Given the description of an element on the screen output the (x, y) to click on. 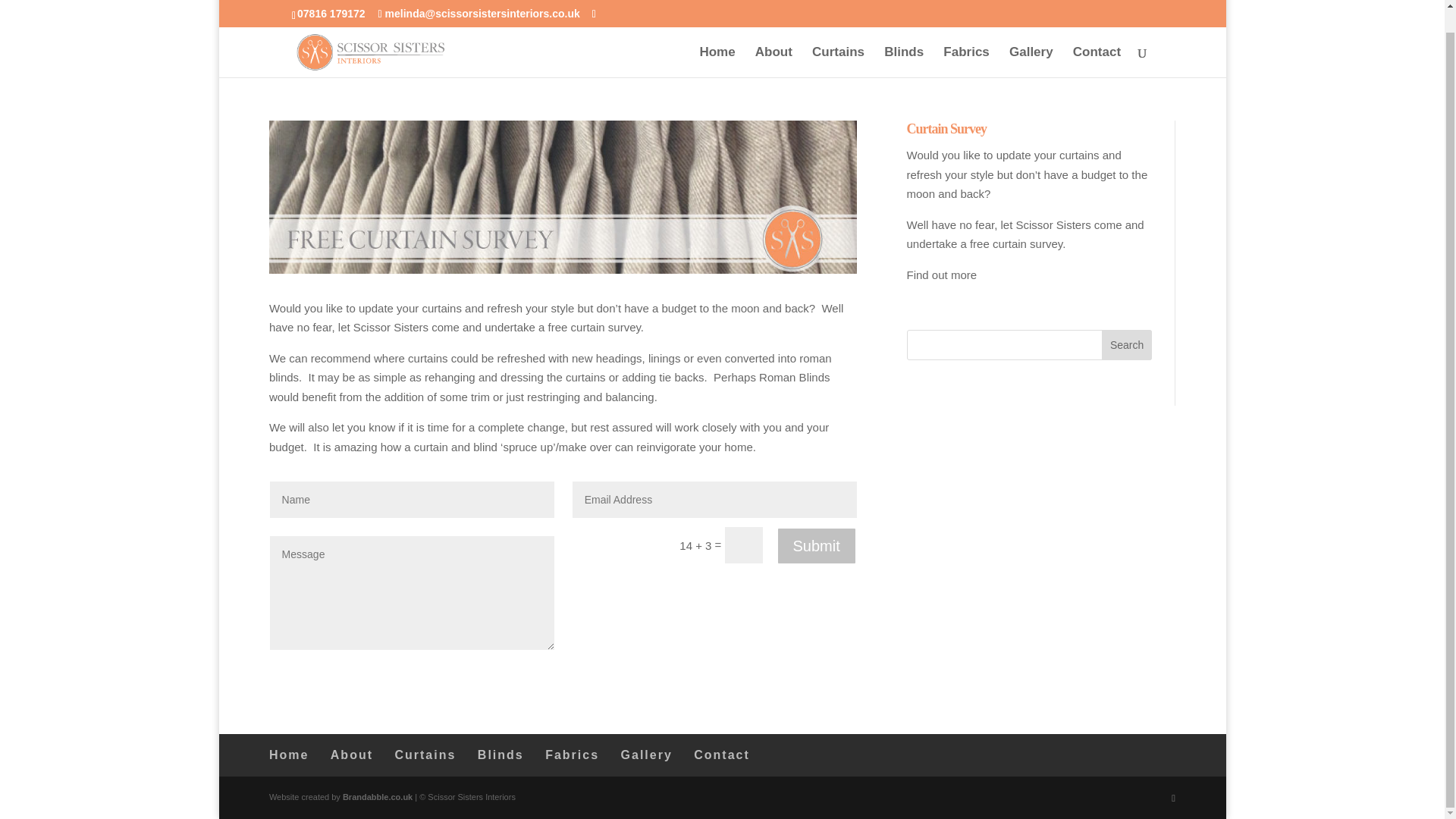
Contact (721, 754)
Gallery (1030, 39)
Find out more (941, 274)
Fabrics (965, 39)
Fabrics (571, 754)
Home (716, 39)
Search (1126, 345)
Gallery (646, 754)
Brandabble.co.uk (377, 796)
Curtains (424, 754)
Blinds (500, 754)
Blinds (903, 39)
About (351, 754)
Curtains (838, 39)
Contact (1097, 39)
